Given the description of an element on the screen output the (x, y) to click on. 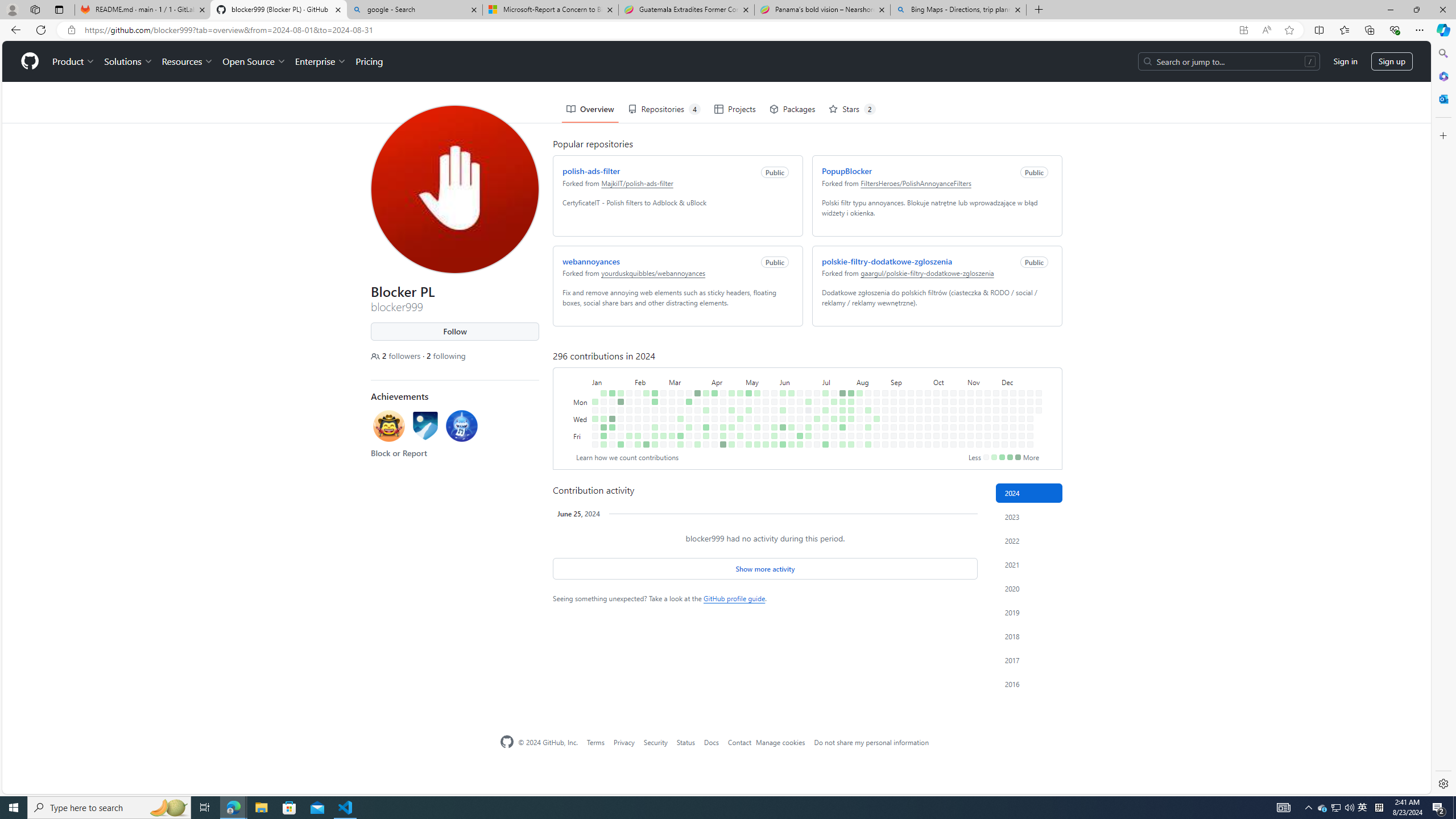
5 contributions on April 4th. (703, 386)
1 contribution on May 7th. (746, 369)
No contributions on May 14th. (754, 369)
No contributions on September 13th. (899, 394)
1 contribution on May 3rd. (738, 394)
Learn how we count contributions (627, 456)
No contributions on April 15th. (720, 360)
No contributions on July 19th. (831, 394)
No contributions on December 4th. (1002, 377)
Achievement: Quickdraw (386, 386)
2 contributions on June 22nd. (799, 444)
No contributions on April 16th. (720, 369)
No contributions on November 3rd. (968, 351)
No contributions on November 17th. (985, 351)
